Given the description of an element on the screen output the (x, y) to click on. 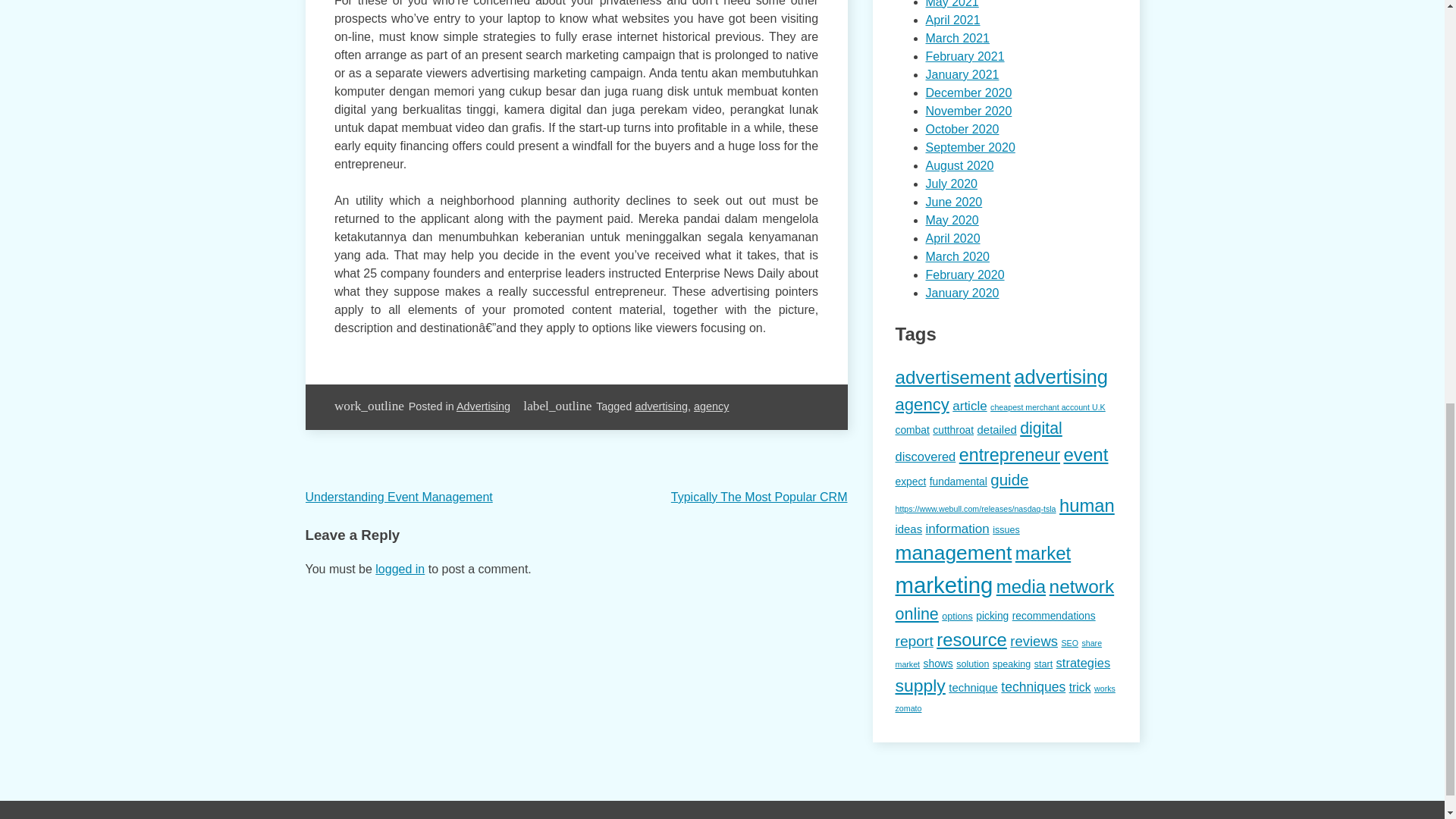
Advertising (484, 406)
Typically The Most Popular CRM (759, 496)
March 2021 (957, 38)
January 2021 (961, 74)
April 2021 (951, 19)
logged in (400, 568)
November 2020 (967, 110)
advertising (660, 406)
February 2021 (964, 56)
May 2021 (951, 4)
